Given the description of an element on the screen output the (x, y) to click on. 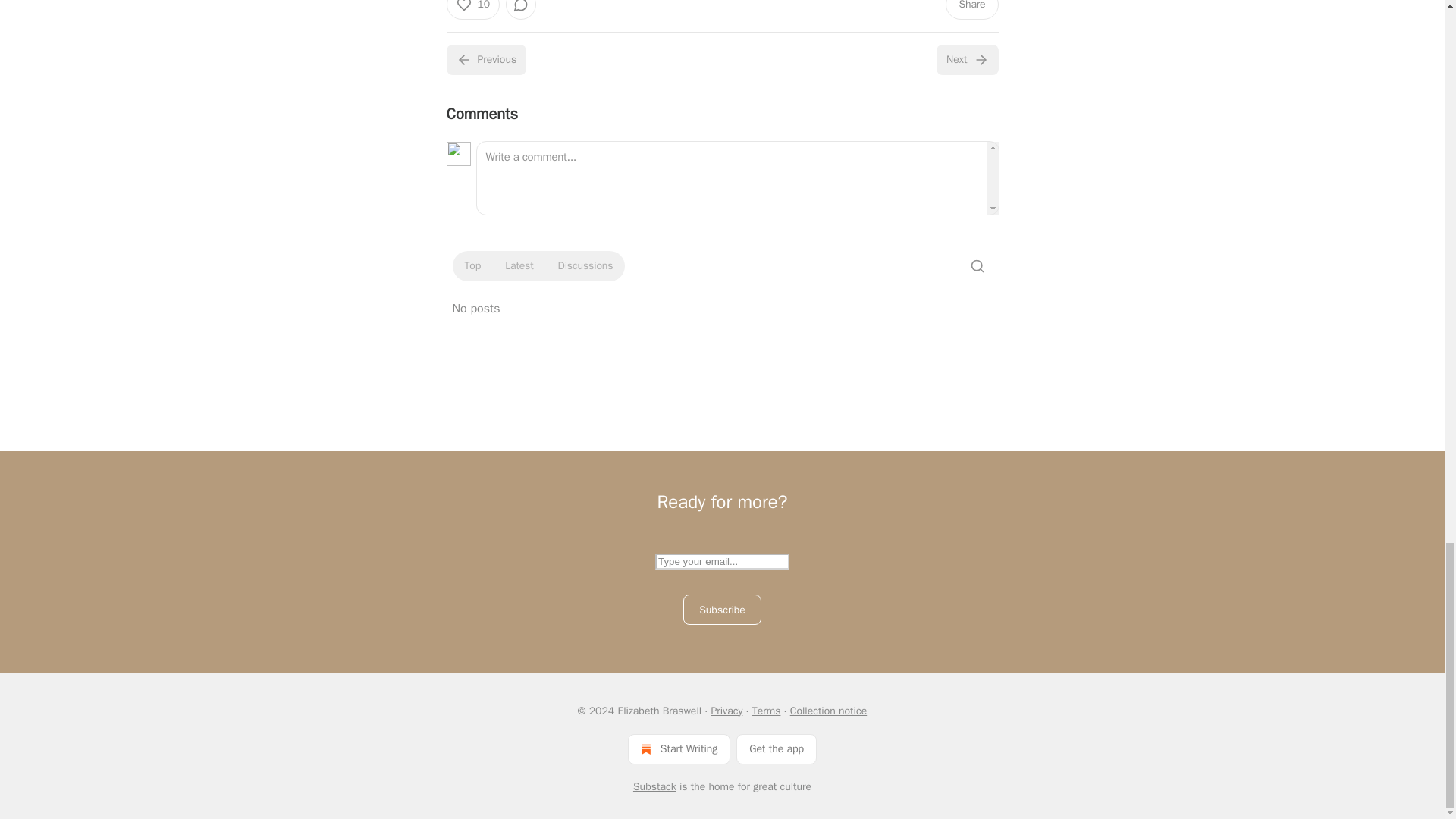
10 (472, 9)
Previous (485, 60)
Latest (518, 265)
Subscribe (721, 609)
Top (471, 265)
Share (970, 9)
Discussions (585, 265)
Next (966, 60)
